Given the description of an element on the screen output the (x, y) to click on. 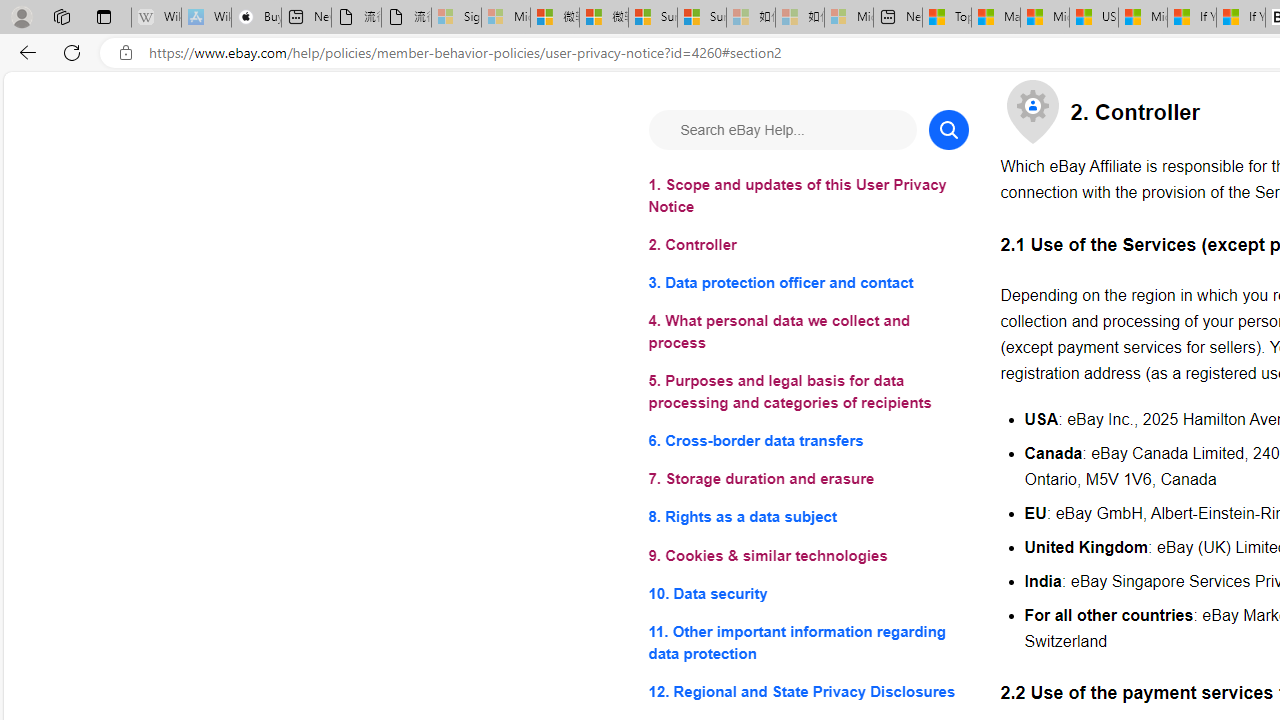
6. Cross-border data transfers (807, 440)
10. Data security (807, 592)
7. Storage duration and erasure (807, 479)
1. Scope and updates of this User Privacy Notice (807, 196)
